Given the description of an element on the screen output the (x, y) to click on. 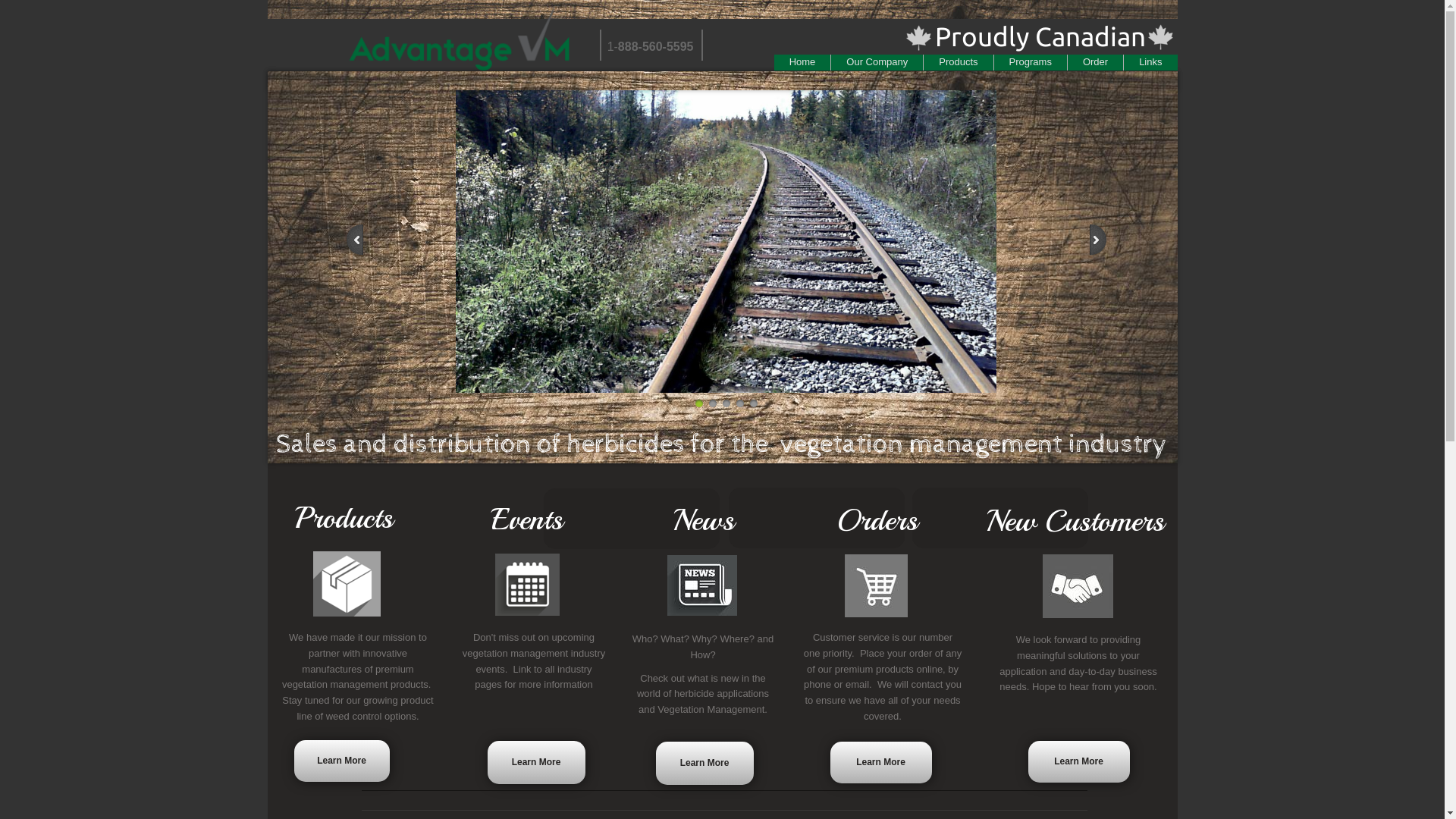
Learn More Element type: text (341, 760)
Products Element type: text (957, 61)
Learn More Element type: text (535, 762)
Our Company Element type: text (876, 61)
Order Element type: text (1094, 61)
Learn More Element type: text (1078, 761)
Learn More Element type: text (704, 762)
Home Element type: text (802, 61)
Links Element type: text (1150, 61)
Programs Element type: text (1030, 61)
Learn More Element type: text (880, 762)
